Given the description of an element on the screen output the (x, y) to click on. 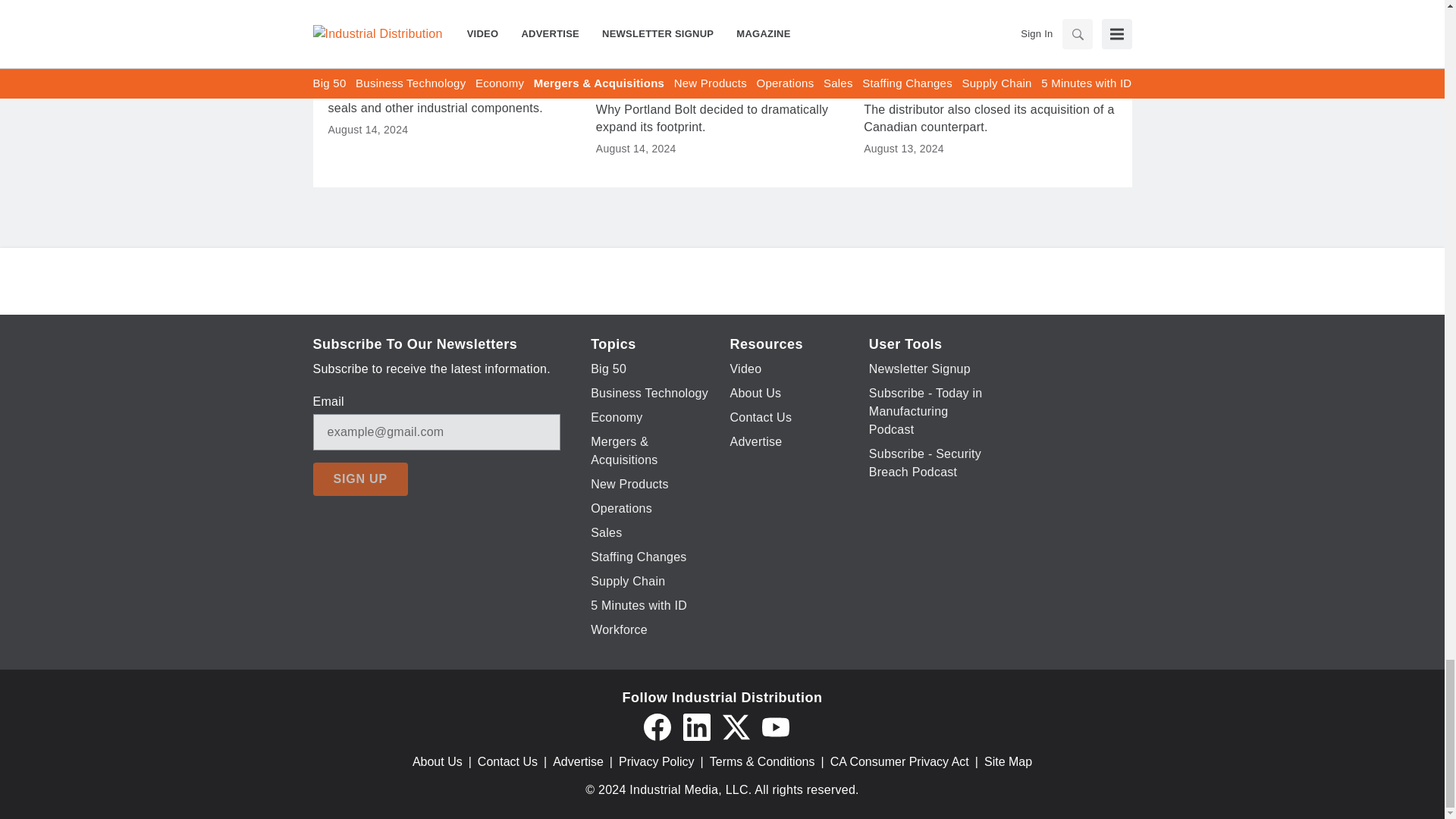
LinkedIn icon (696, 727)
Twitter X icon (735, 727)
YouTube icon (775, 727)
Facebook icon (656, 727)
